Given the description of an element on the screen output the (x, y) to click on. 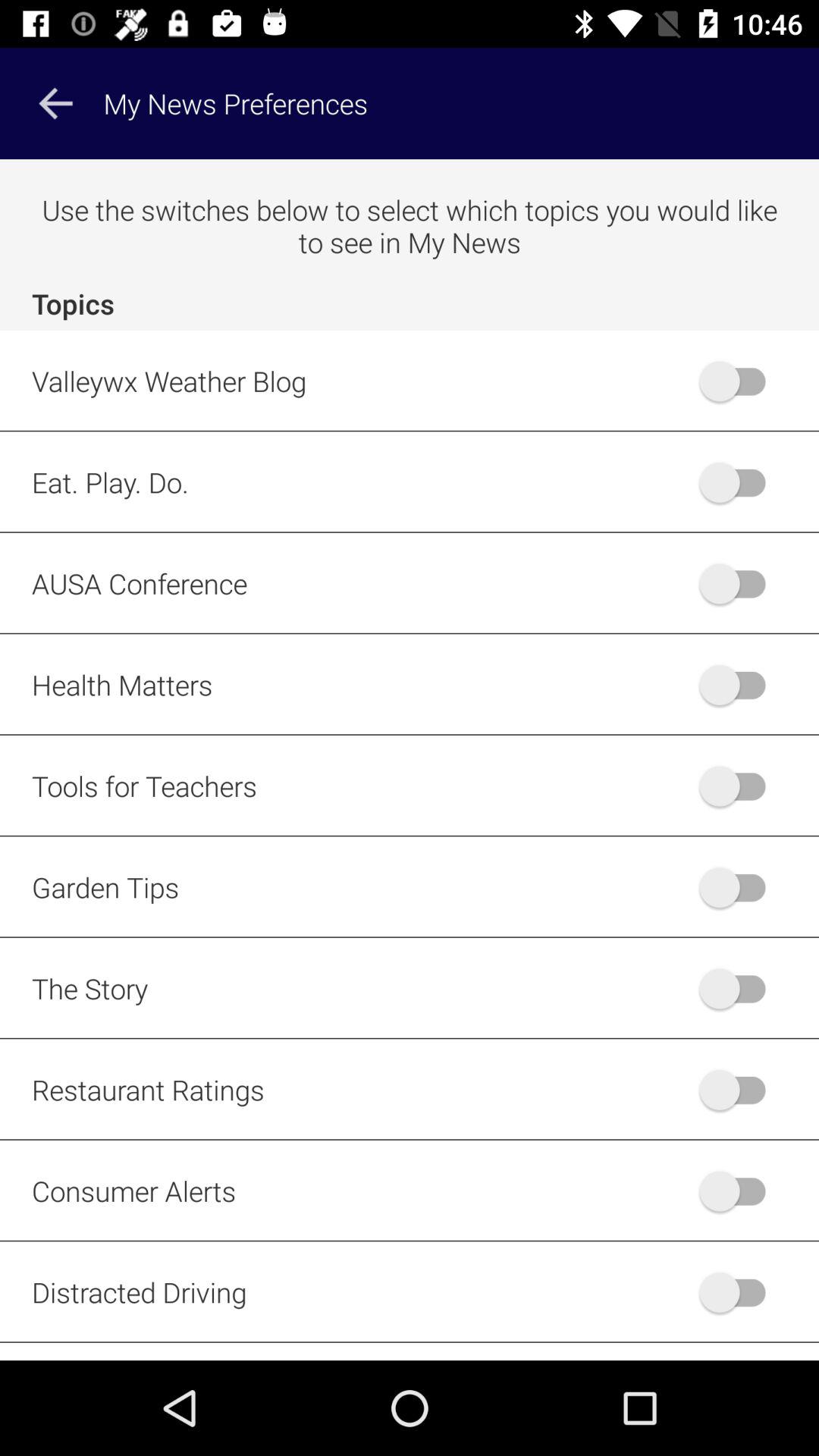
turn on item above the use the switches item (55, 103)
